Given the description of an element on the screen output the (x, y) to click on. 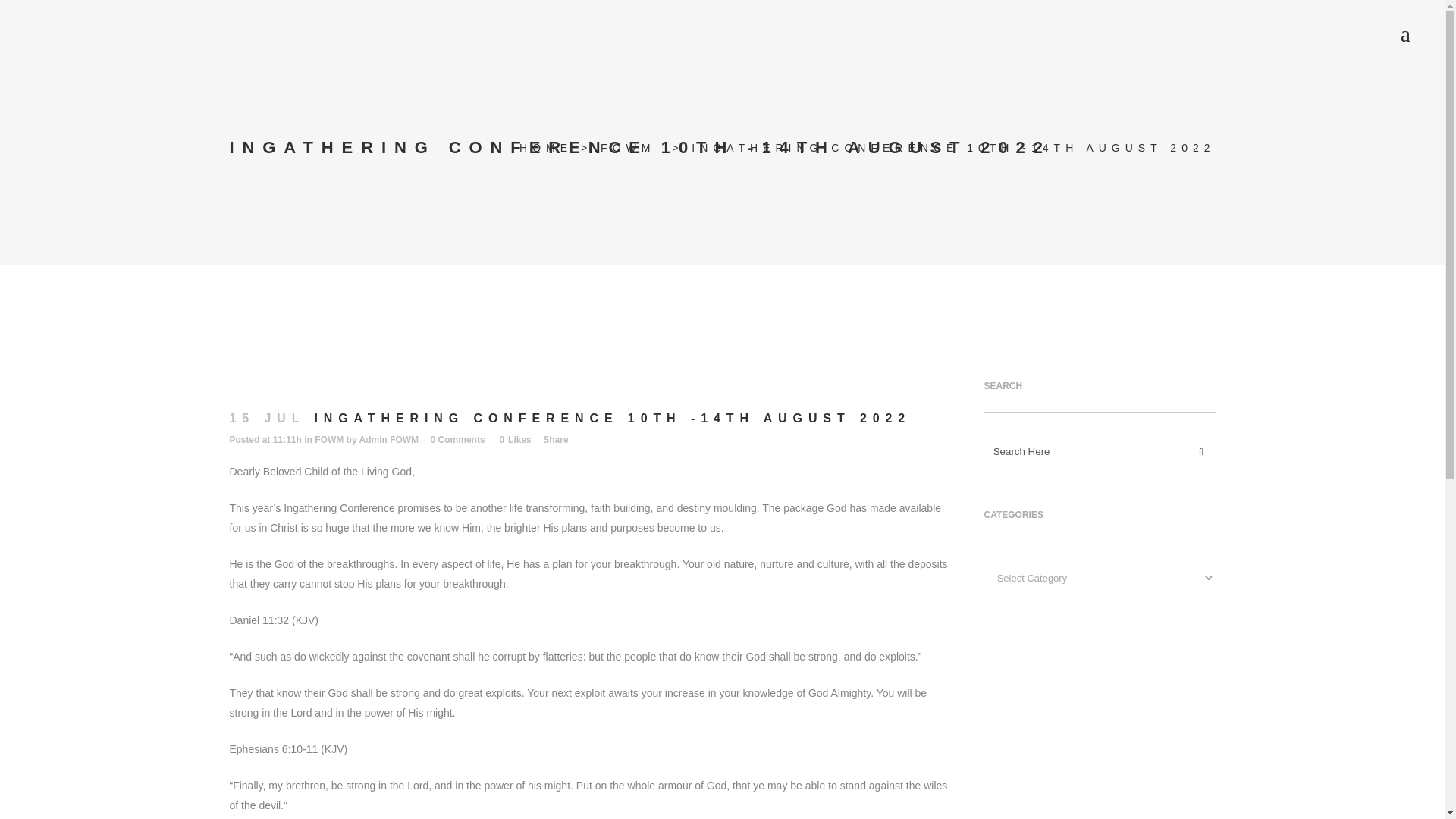
Share (555, 439)
HOME (545, 147)
FOWM (627, 147)
0 Comments (457, 439)
0 Likes (515, 439)
Like this (515, 439)
FOWM (328, 439)
Admin FOWM (388, 439)
